Given the description of an element on the screen output the (x, y) to click on. 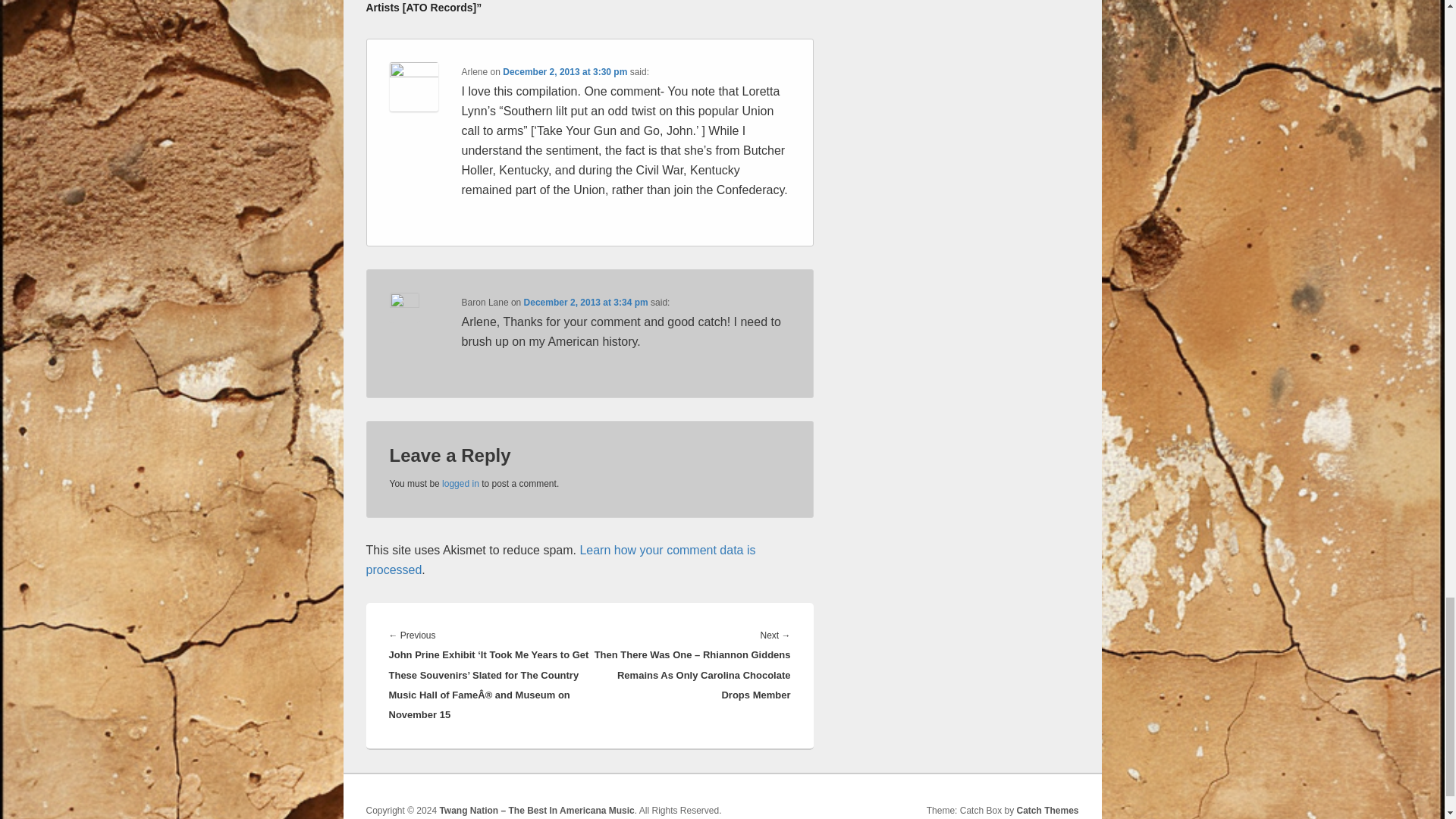
Catch Themes (1047, 810)
